Given the description of an element on the screen output the (x, y) to click on. 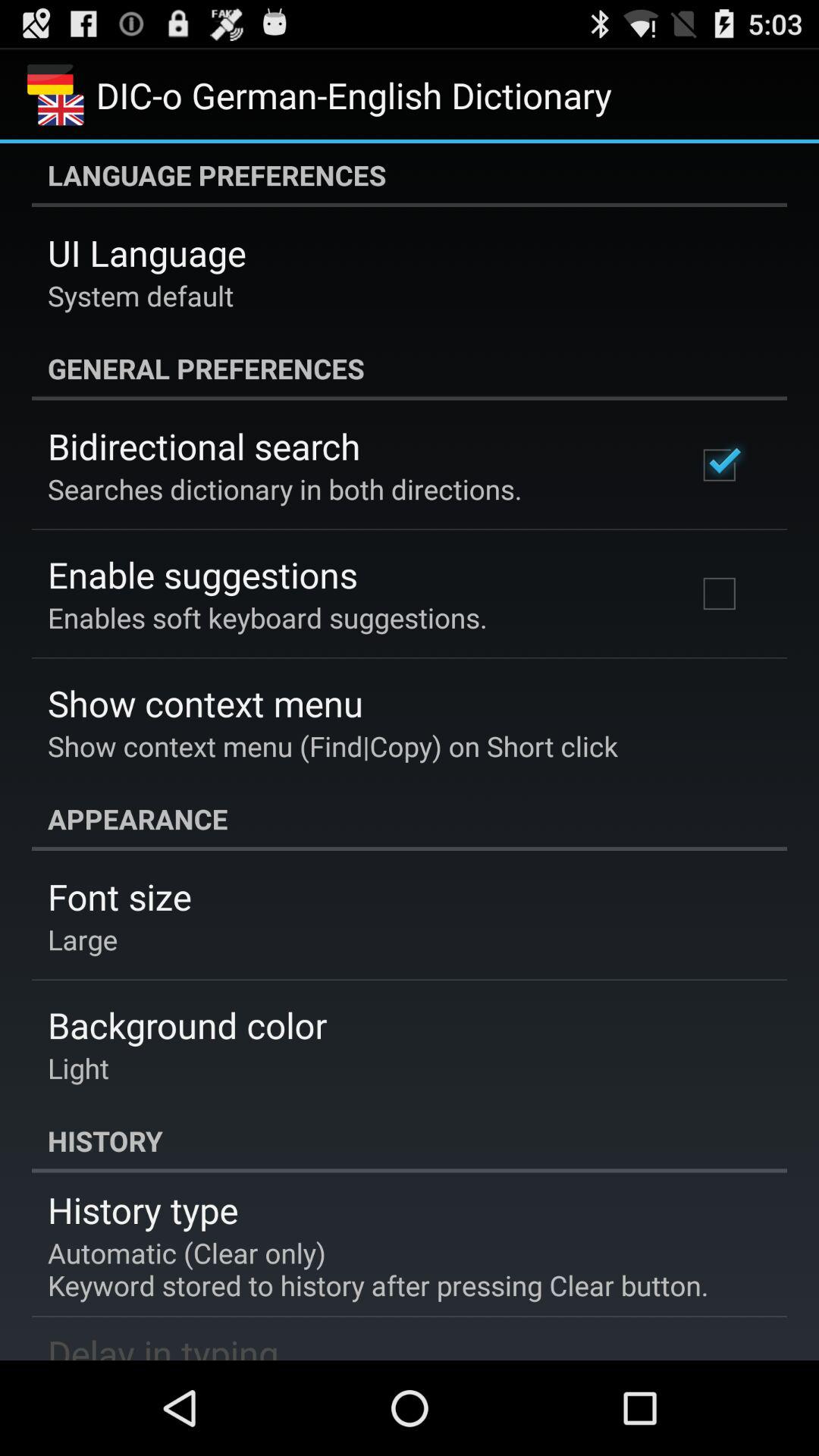
jump until the automatic clear only item (377, 1269)
